Given the description of an element on the screen output the (x, y) to click on. 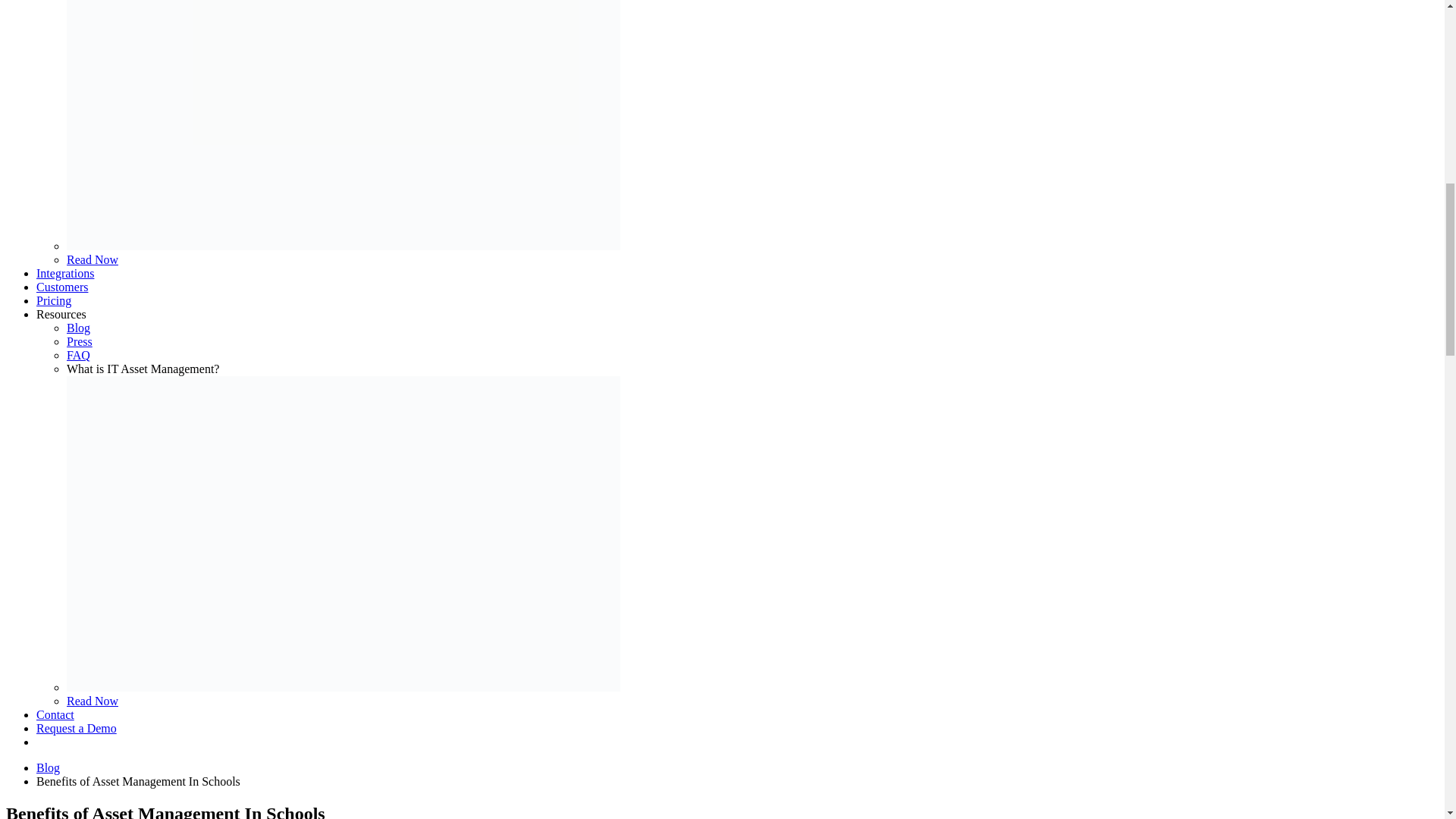
Resources (60, 314)
Read Now (91, 700)
Pricing (53, 300)
Integrations (65, 273)
Press (79, 341)
Blog (78, 327)
Customers (61, 286)
Contact (55, 714)
FAQ (78, 354)
Read Now (91, 259)
Request a Demo (76, 727)
